Given the description of an element on the screen output the (x, y) to click on. 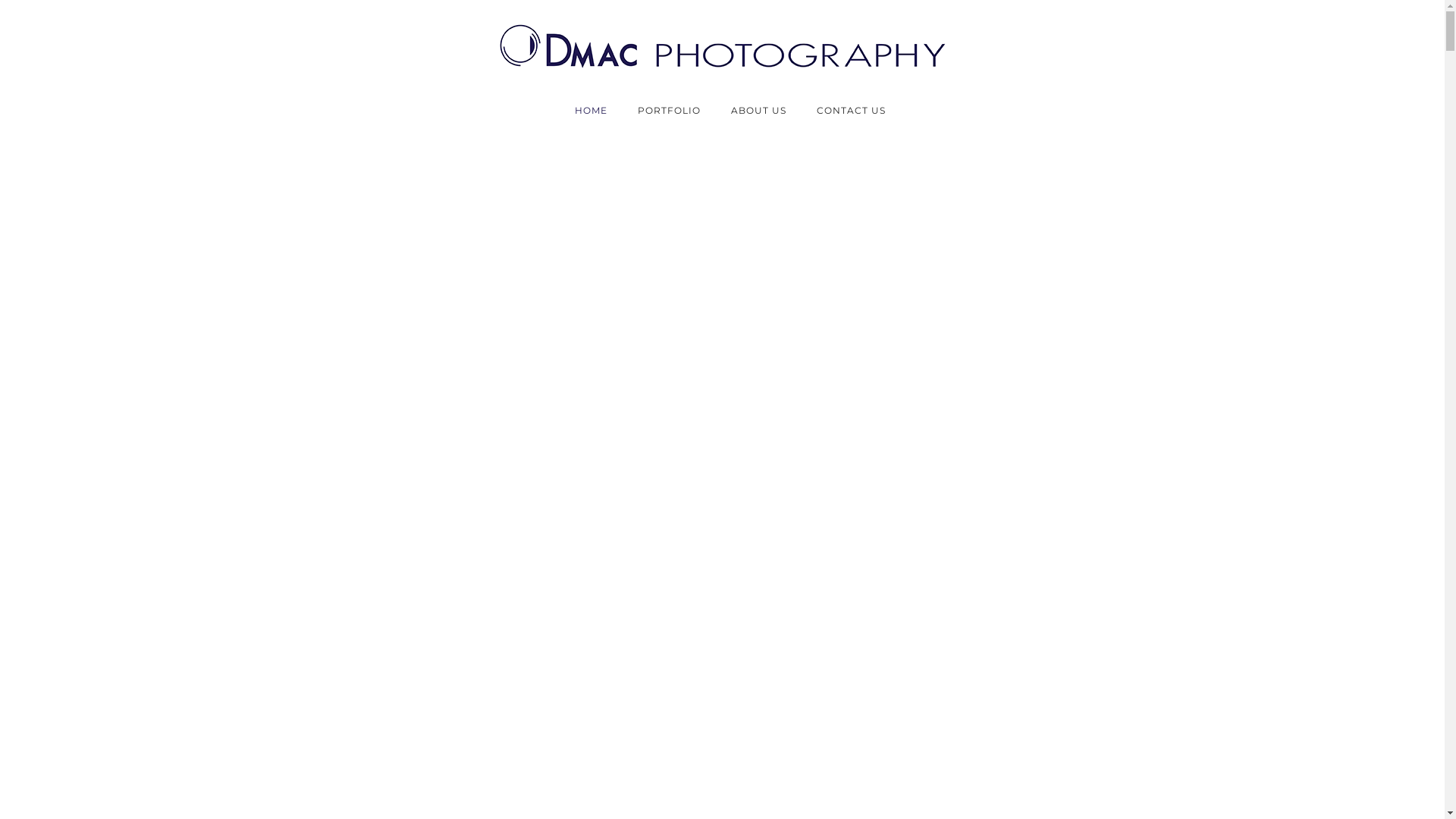
CONTACT US Element type: text (842, 110)
PORTFOLIO Element type: text (668, 110)
ABOUT US Element type: text (758, 110)
HOME Element type: text (590, 110)
